Given the description of an element on the screen output the (x, y) to click on. 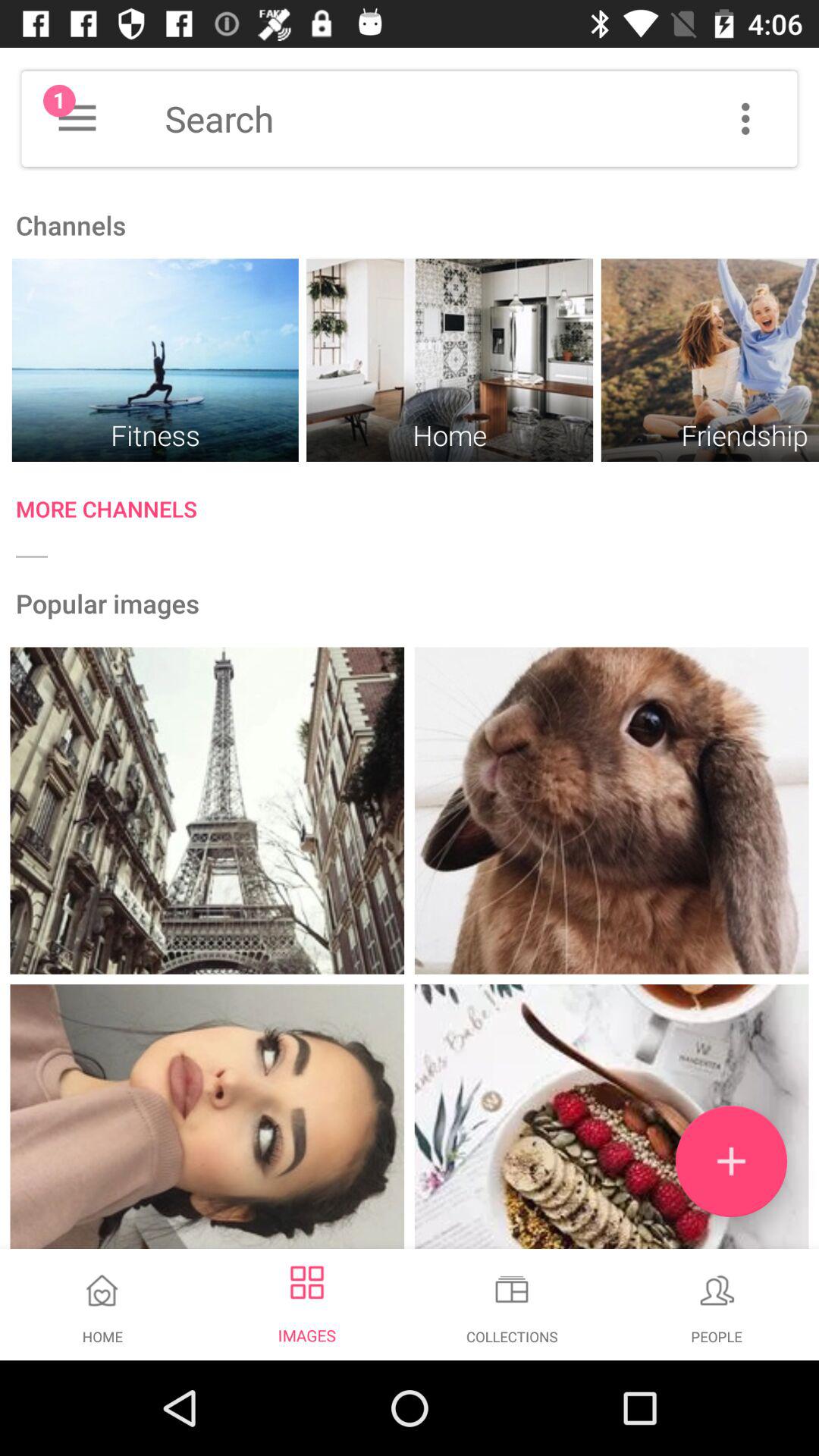
click on group icon above people (716, 1289)
click on the more channels  below fitness (417, 513)
click on the add icon at the bottom right (731, 1161)
go to the search box (481, 119)
